Given the description of an element on the screen output the (x, y) to click on. 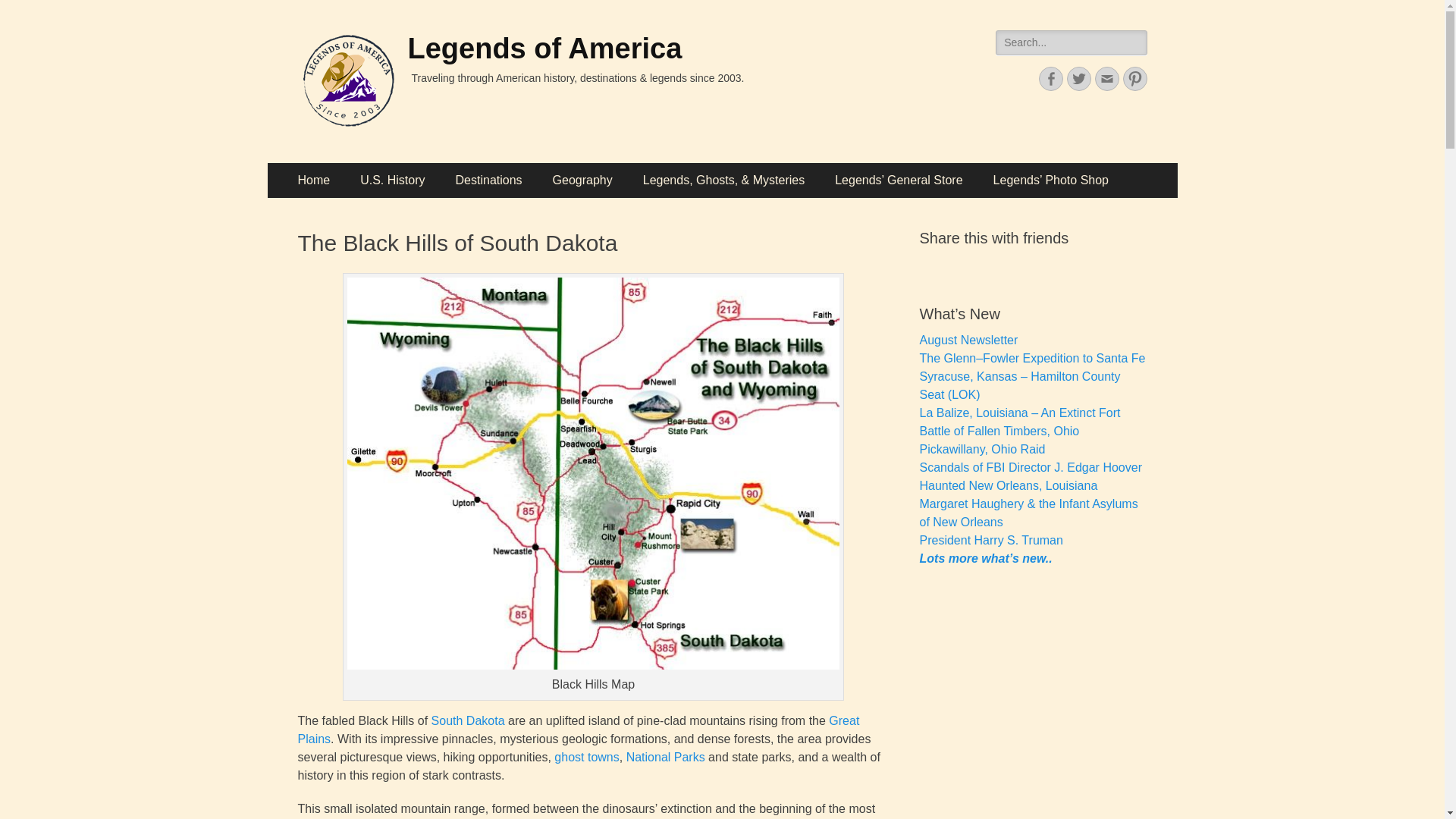
Home (313, 180)
Pinterest (1134, 78)
Facebook (1050, 78)
Pinterest (1134, 78)
Email (1106, 78)
Facebook (1050, 78)
Twitter (1077, 78)
Search for: (1071, 42)
Legends of America (544, 48)
